Given the description of an element on the screen output the (x, y) to click on. 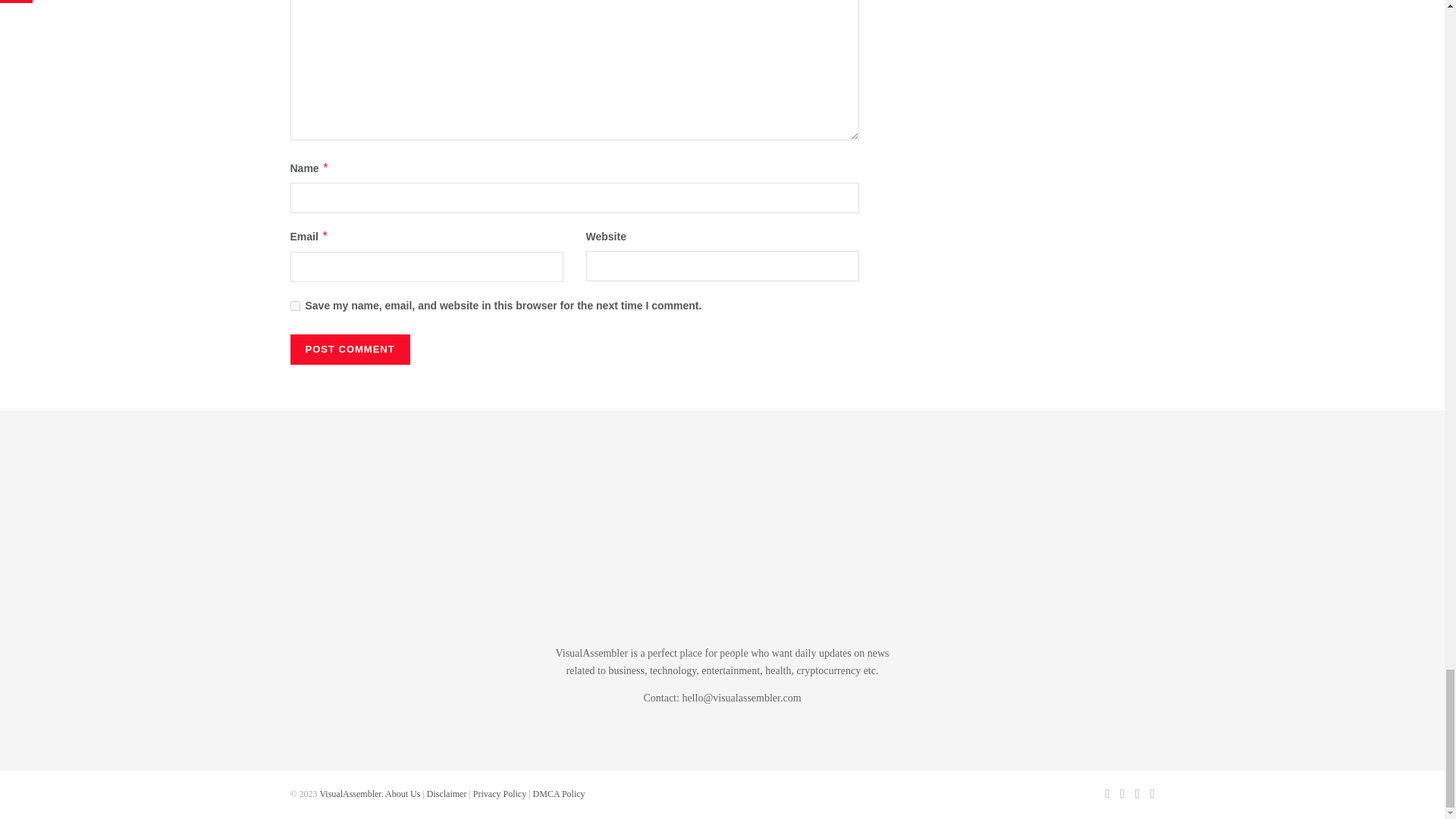
Post Comment (349, 349)
yes (294, 306)
